Given the description of an element on the screen output the (x, y) to click on. 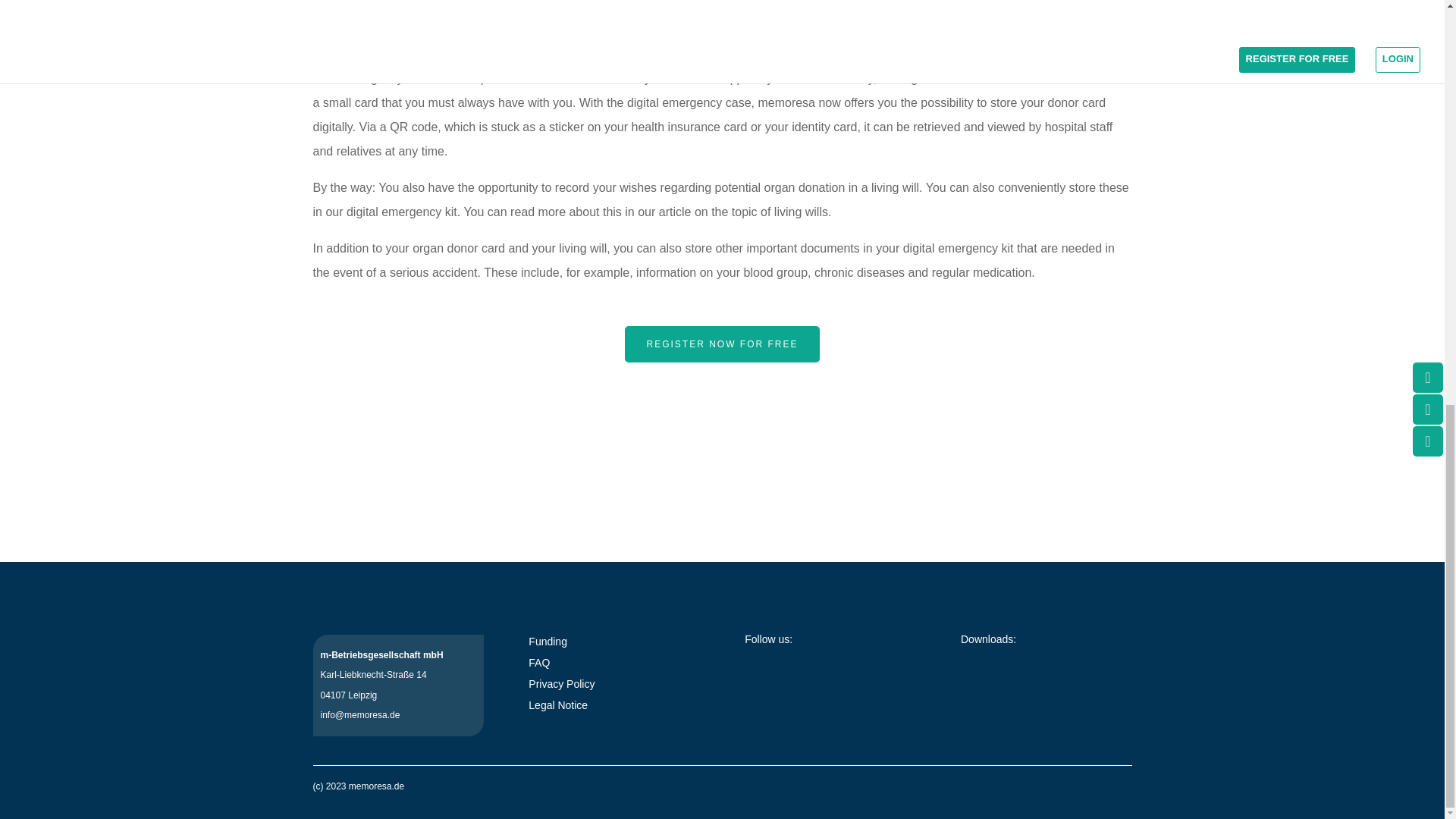
REGISTER NOW FOR FREE (721, 343)
